Given the description of an element on the screen output the (x, y) to click on. 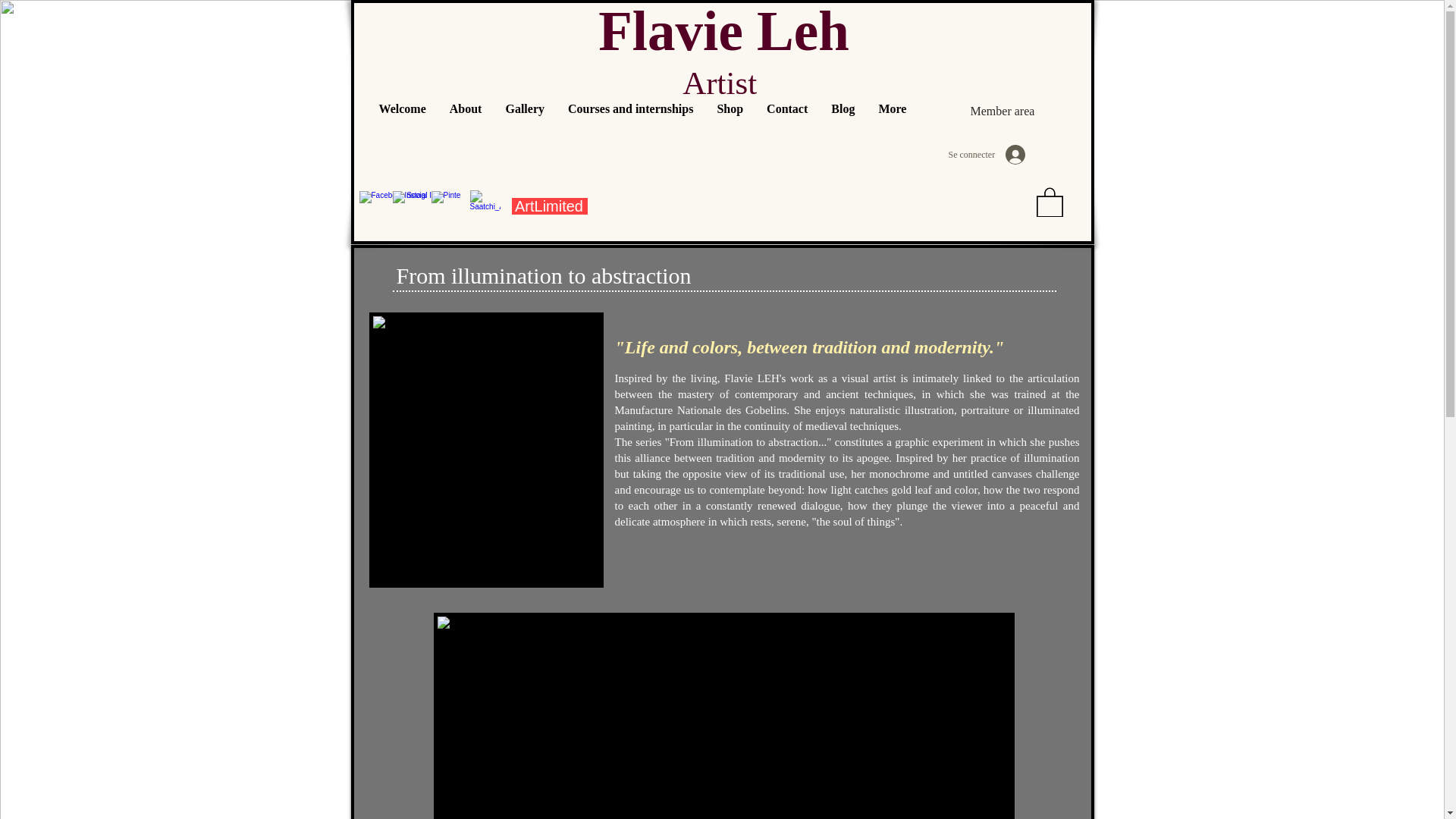
Contact (786, 125)
Shop (729, 125)
Welcome (402, 125)
Flavie (670, 31)
Blog (842, 125)
 ArtLimited  (548, 206)
Se connecter (986, 154)
About (465, 125)
Courses and internships (630, 125)
Gallery (524, 125)
